Given the description of an element on the screen output the (x, y) to click on. 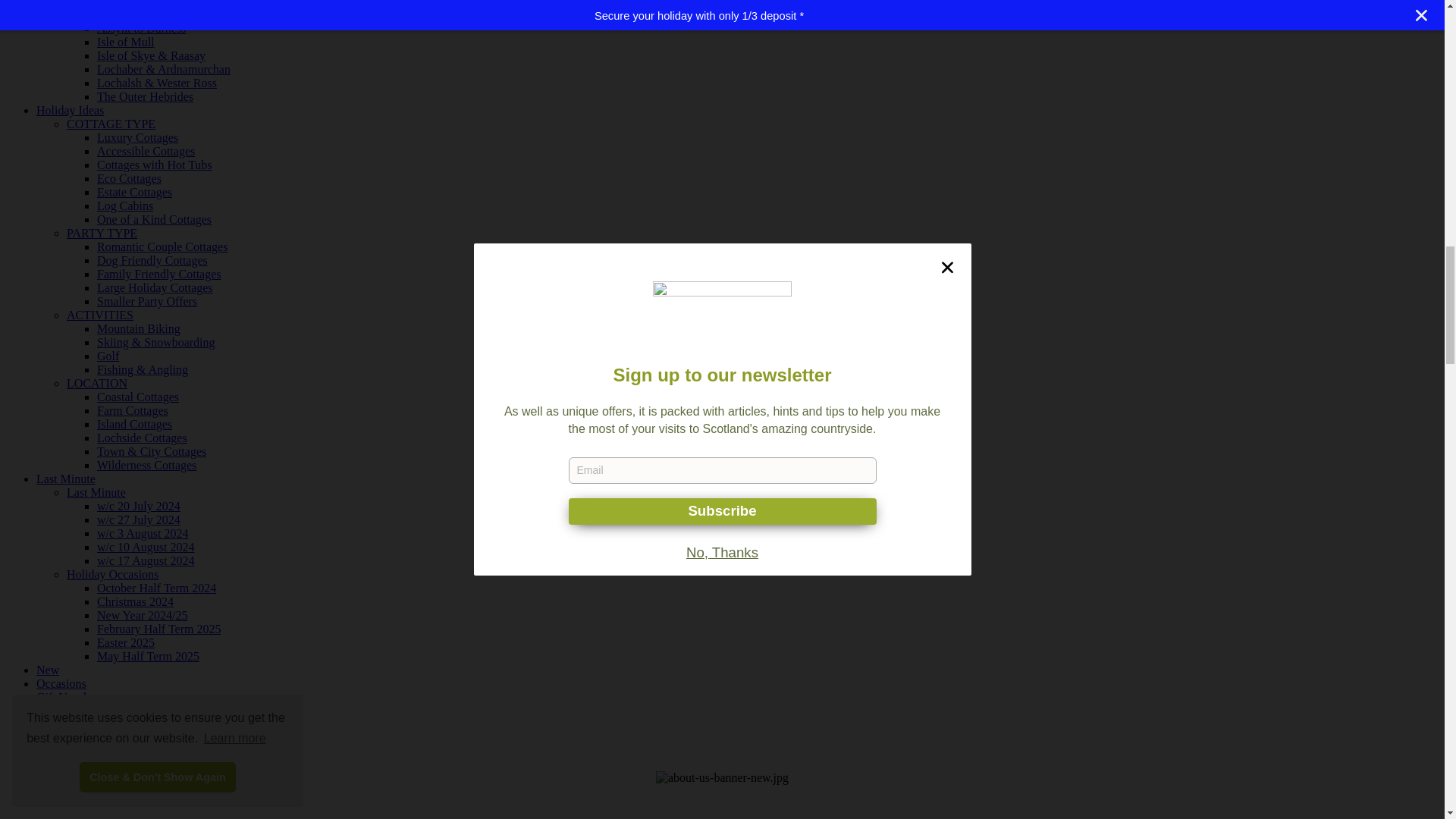
about-us-banner-new.jpg (722, 795)
